Given the description of an element on the screen output the (x, y) to click on. 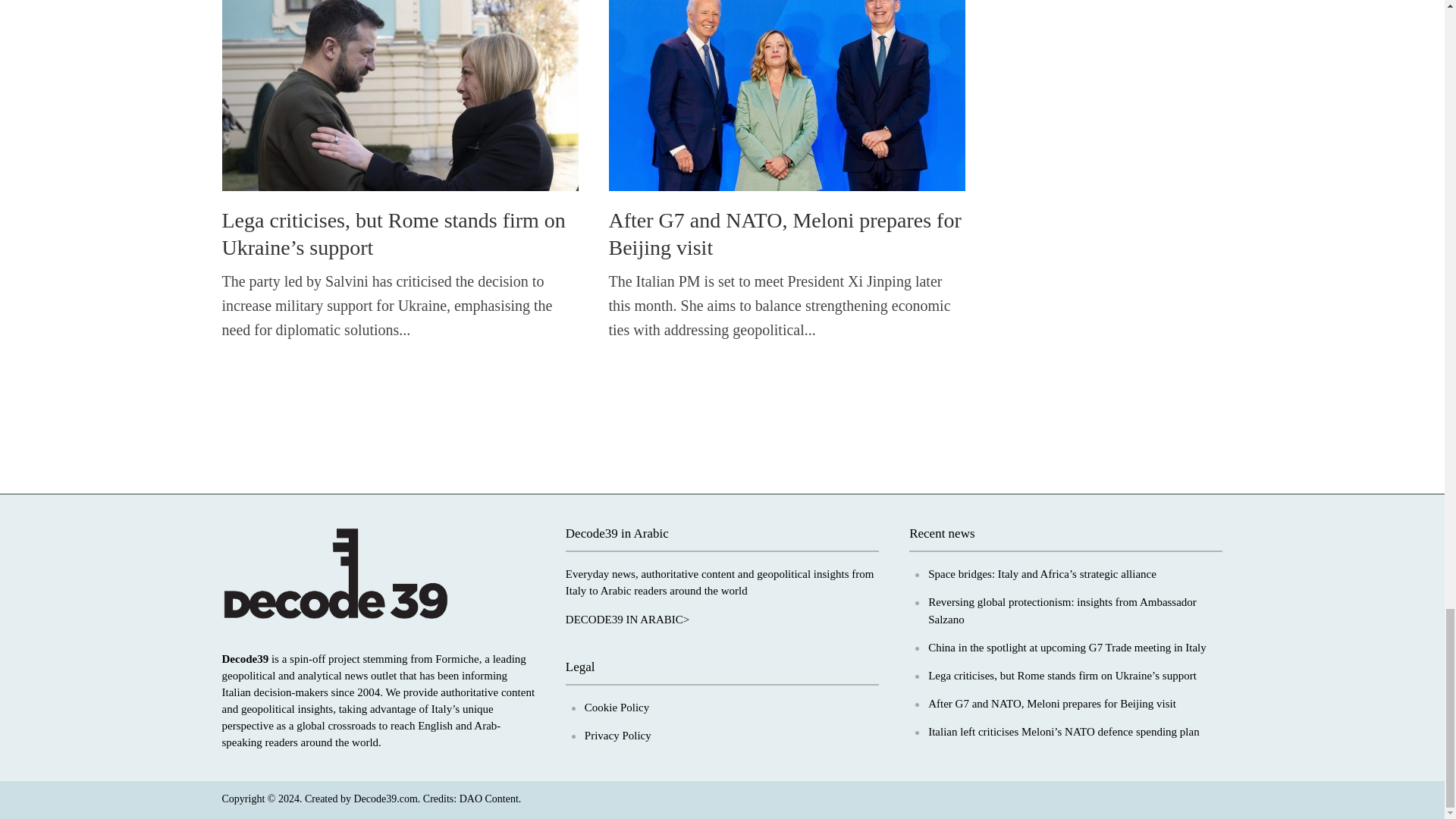
After G7 and NATO, Meloni prepares for Beijing visit (785, 88)
